Given the description of an element on the screen output the (x, y) to click on. 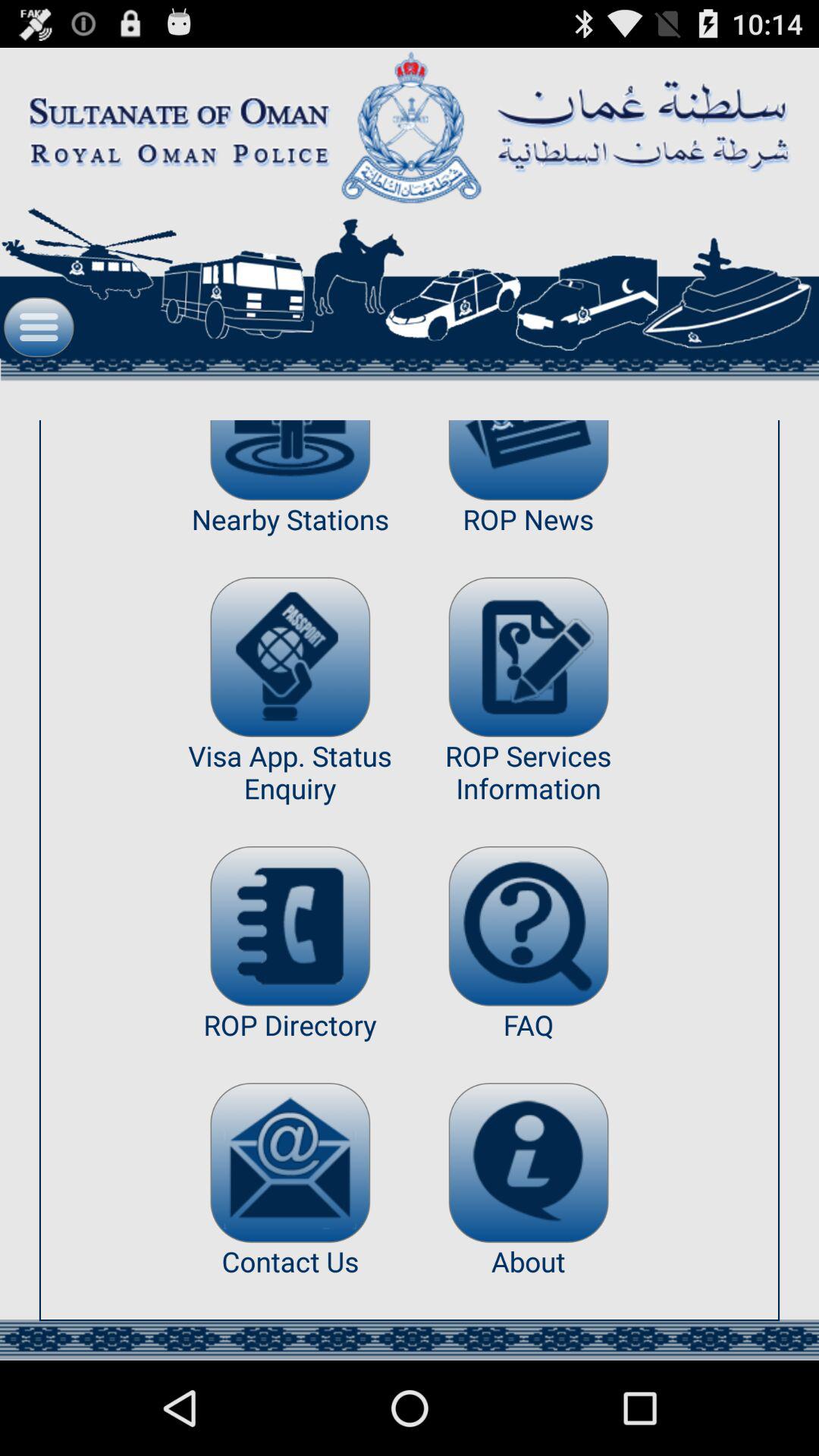
open statuts of your visa application (290, 657)
